Given the description of an element on the screen output the (x, y) to click on. 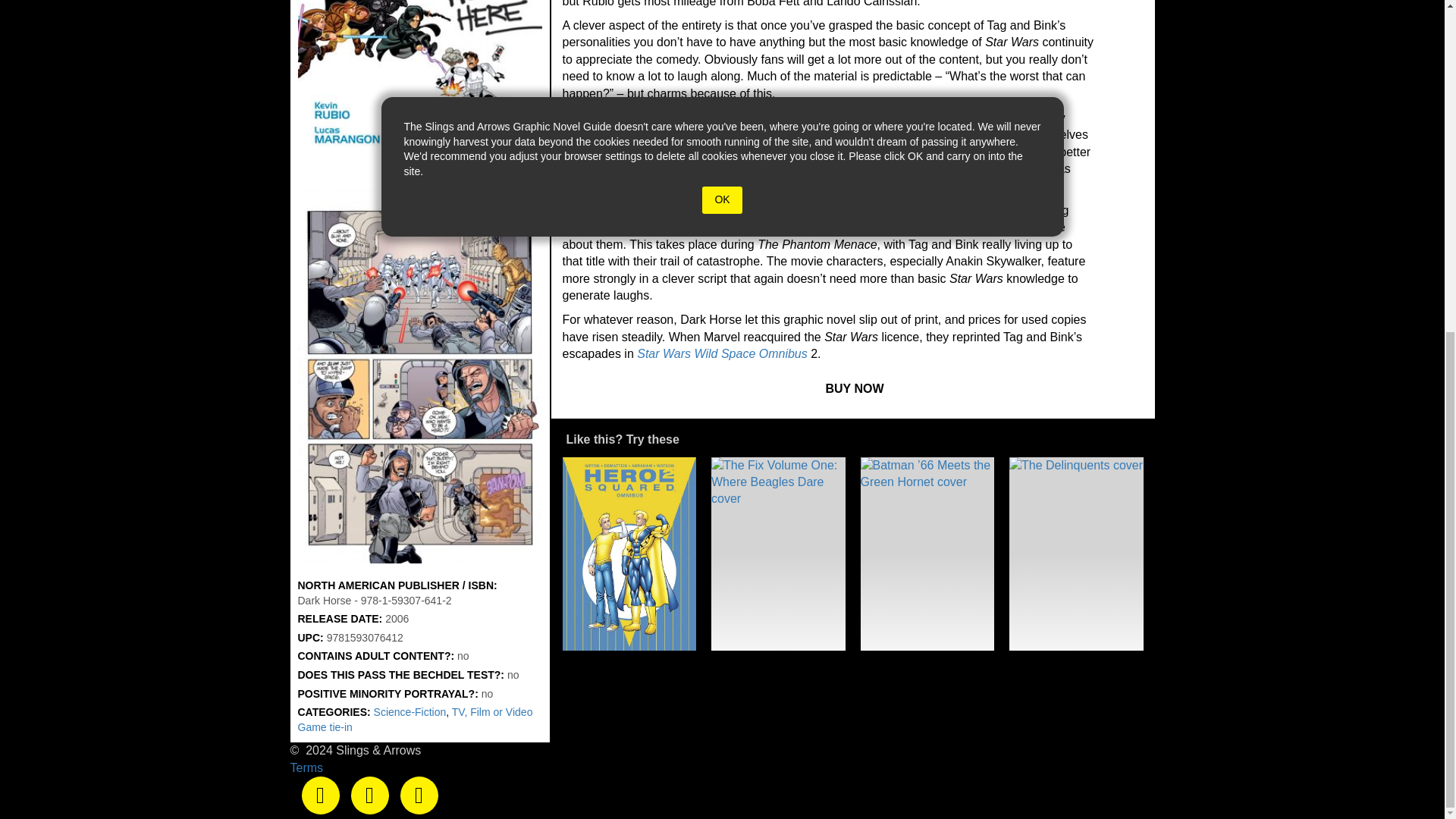
Science-Fiction (410, 711)
TV, Film or Video Game tie-in (414, 719)
Star Wars Wild Space Omnibus (722, 353)
OK (721, 199)
